Given the description of an element on the screen output the (x, y) to click on. 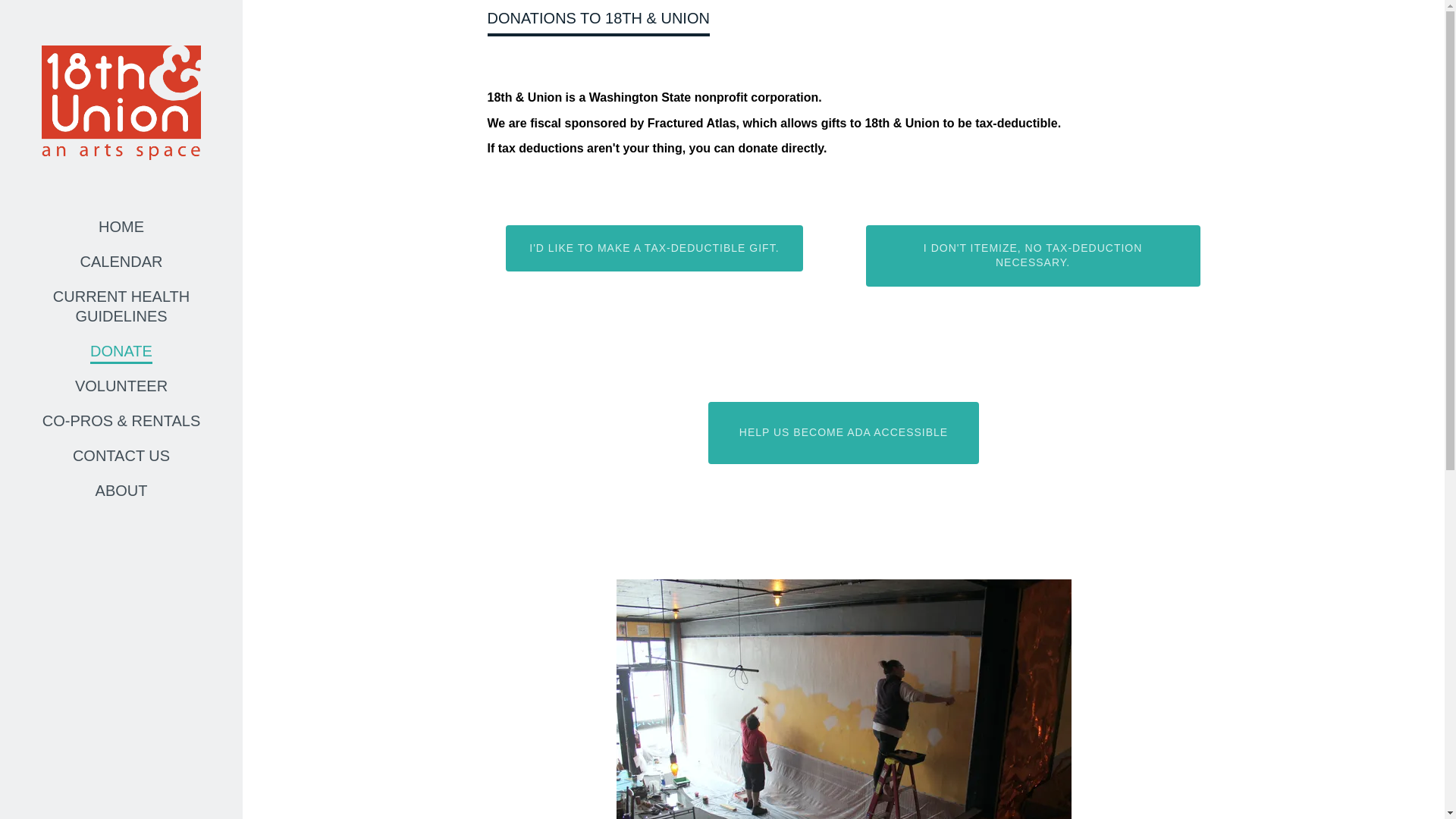
CURRENT HEALTH GUIDELINES (121, 306)
HOME (121, 226)
VOLUNTEER (121, 385)
HELP US BECOME ADA ACCESSIBLE (842, 433)
CONTACT US (121, 455)
I DON'T ITEMIZE, NO TAX-DEDUCTION NECESSARY. (1032, 255)
ABOUT (122, 490)
I'D LIKE TO MAKE A TAX-DEDUCTIBLE GIFT. (653, 248)
DONATE (121, 351)
CALENDAR (121, 261)
